Given the description of an element on the screen output the (x, y) to click on. 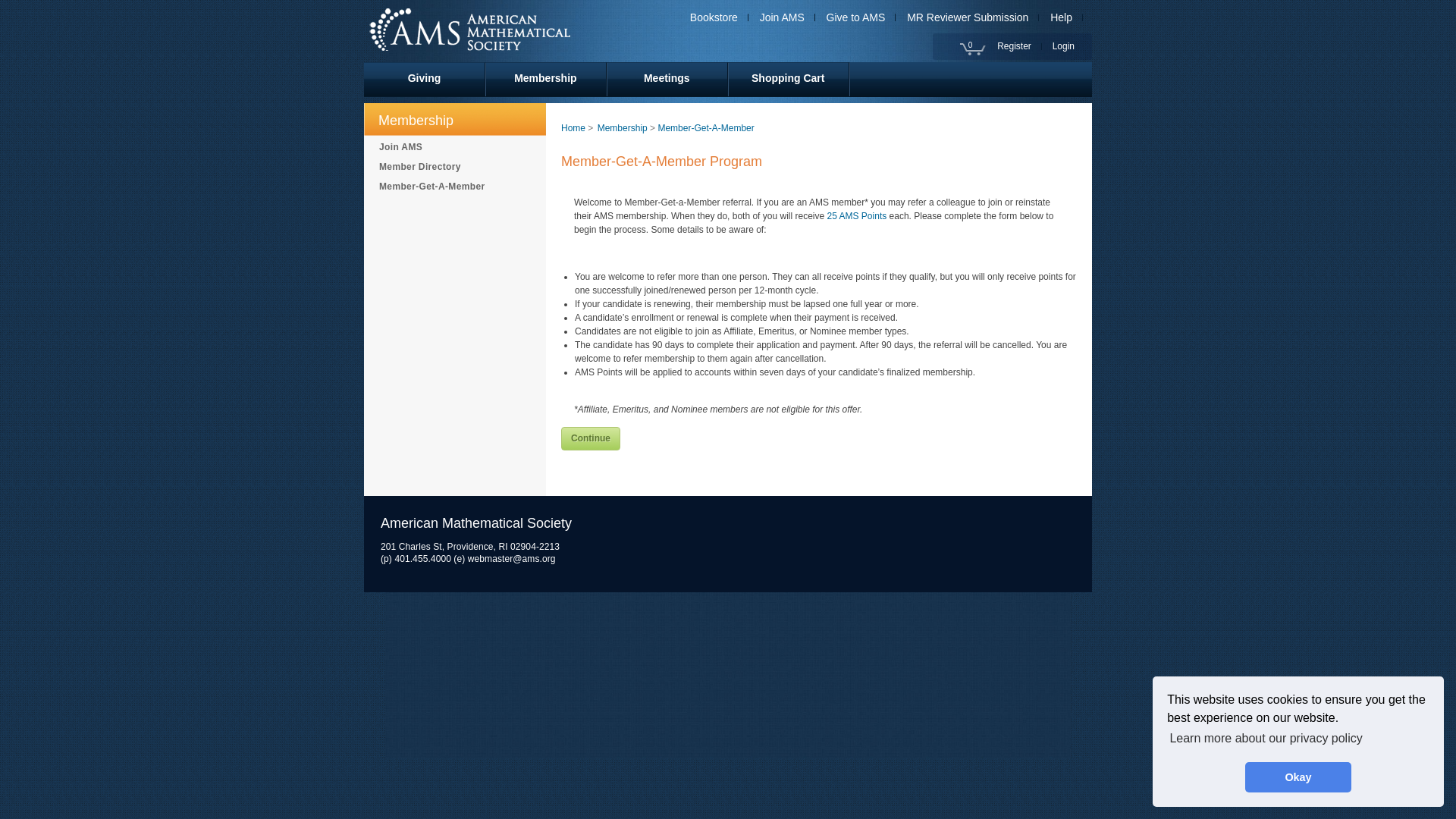
Giving (424, 79)
Membership (545, 79)
Login (1068, 45)
Join AMS (787, 17)
Register (1019, 45)
0 (973, 47)
Register (1019, 45)
Shopping Cart (788, 79)
American Mathematical Society (525, 27)
Bookstore (719, 17)
